Given the description of an element on the screen output the (x, y) to click on. 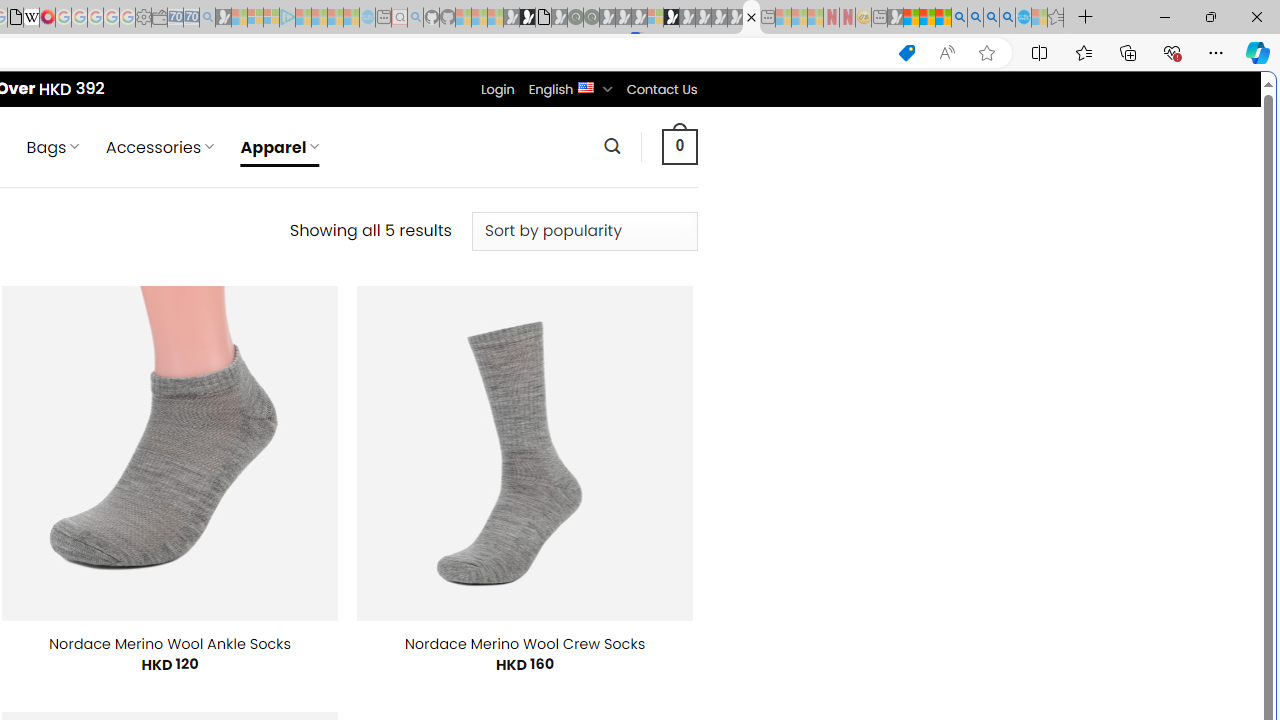
Close split screen (844, 102)
English (586, 86)
Target page - Wikipedia (31, 17)
Services - Maintenance | Sky Blue Bikes - Sky Blue Bikes (1023, 17)
  0   (679, 146)
